Given the description of an element on the screen output the (x, y) to click on. 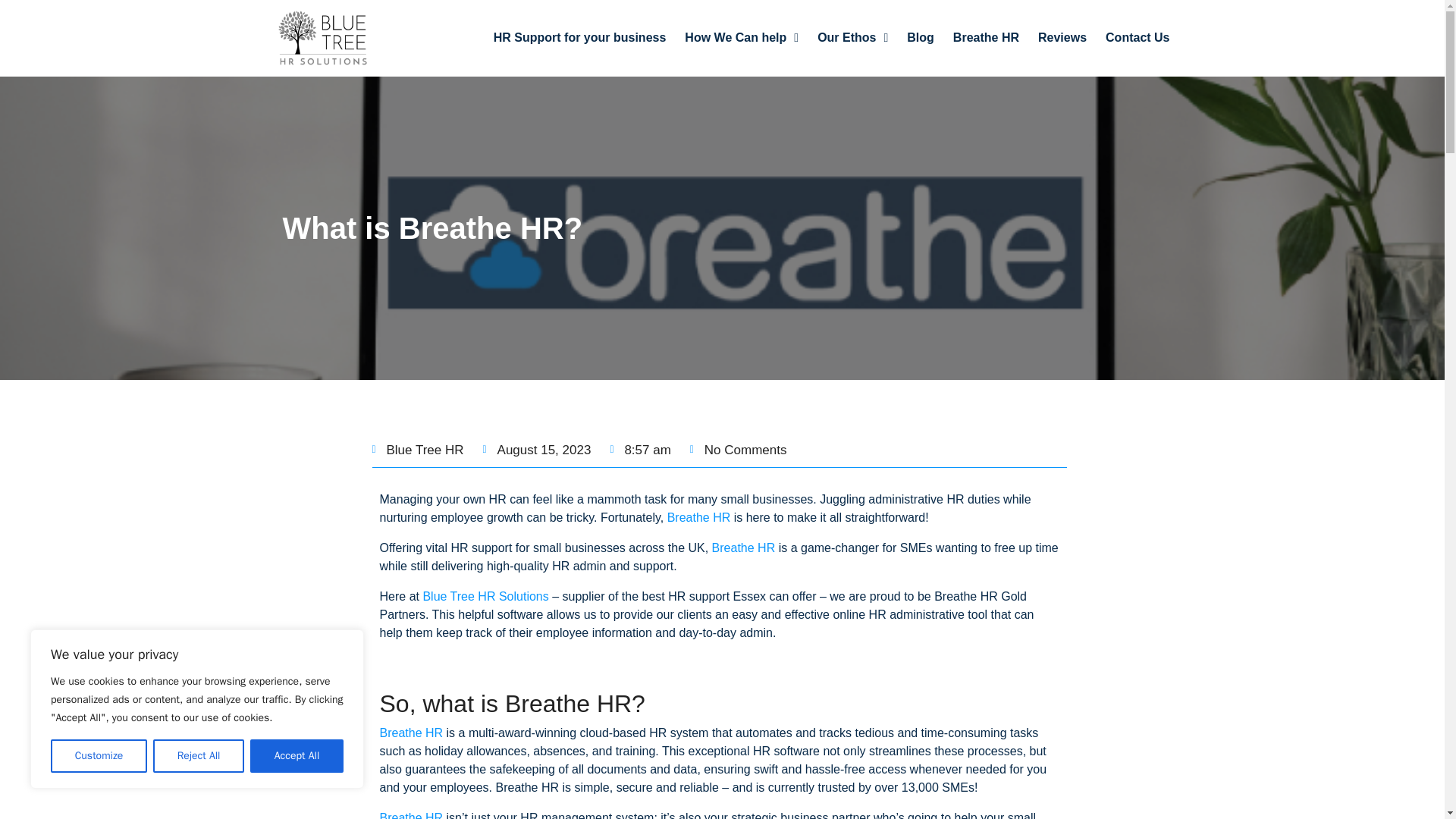
Blog (920, 37)
Breathe HR (986, 37)
Contact Us (1137, 37)
Our Ethos (852, 37)
HR Support for your business (579, 37)
Reviews (1062, 37)
How We Can help (740, 37)
Customize (98, 756)
Reject All (198, 756)
Accept All (296, 756)
